Given the description of an element on the screen output the (x, y) to click on. 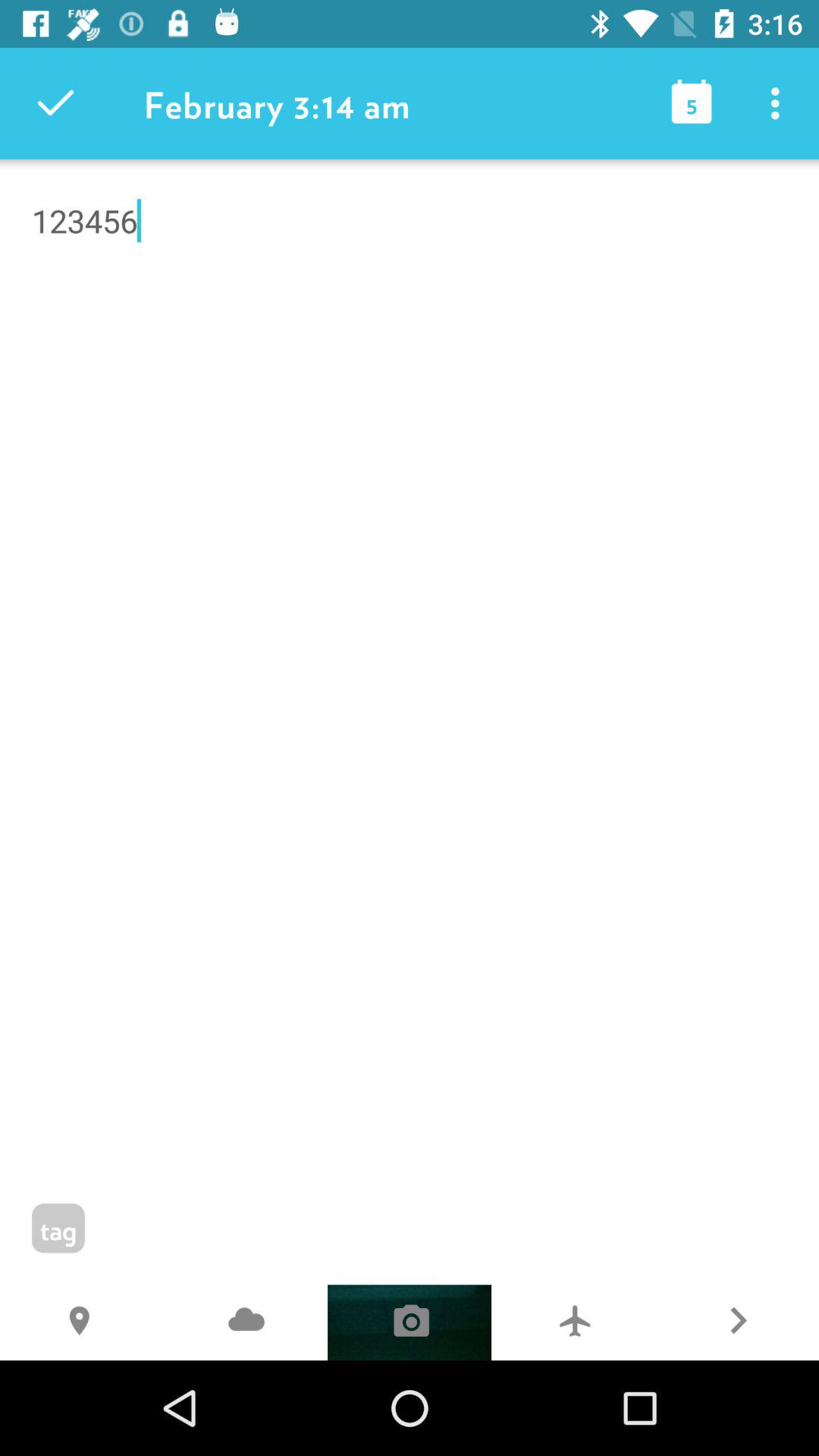
select the icon below 123456 (737, 1322)
